Given the description of an element on the screen output the (x, y) to click on. 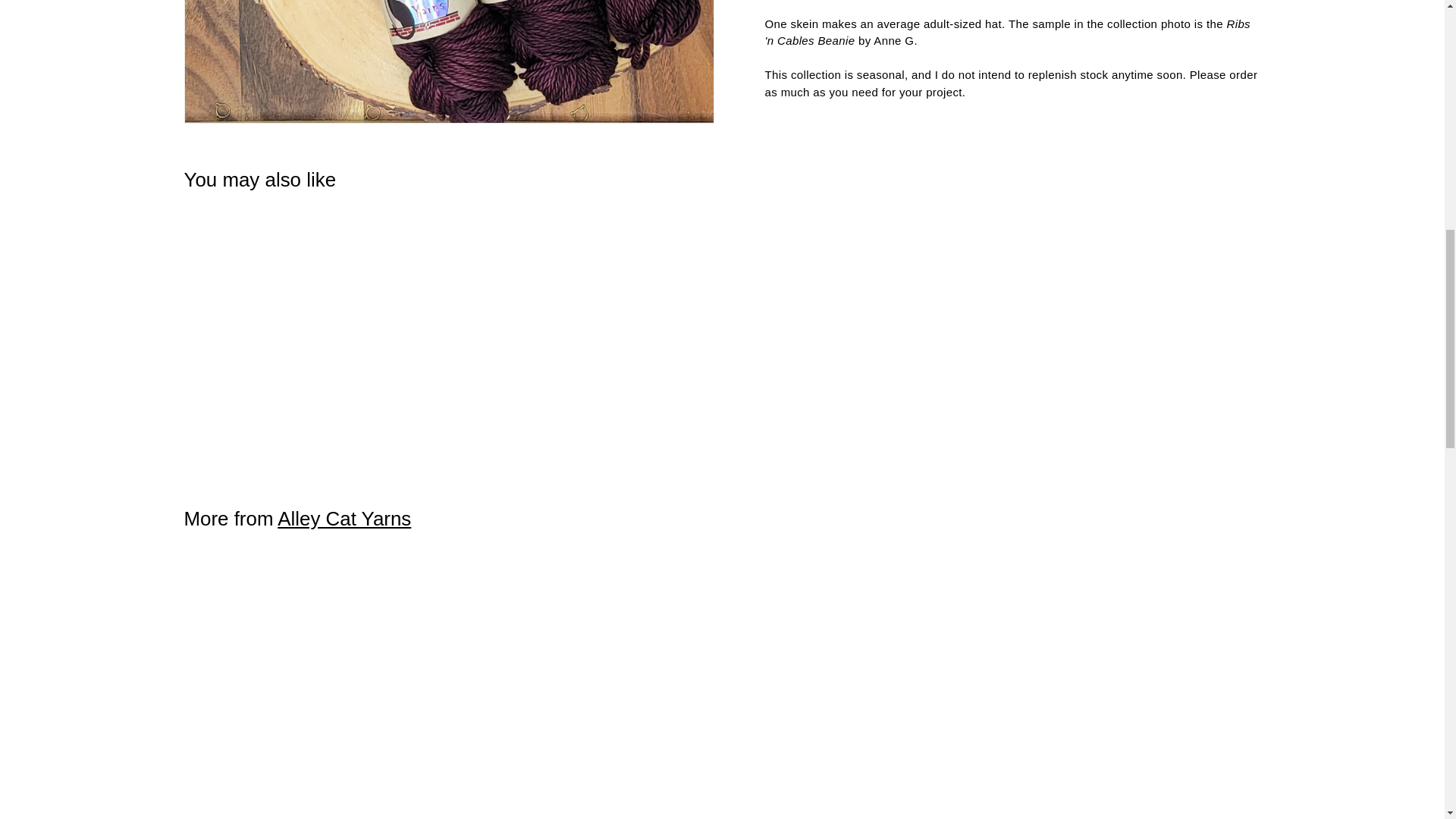
Alley Cat Yarns (344, 518)
Alley Cat Yarns (344, 518)
